Given the description of an element on the screen output the (x, y) to click on. 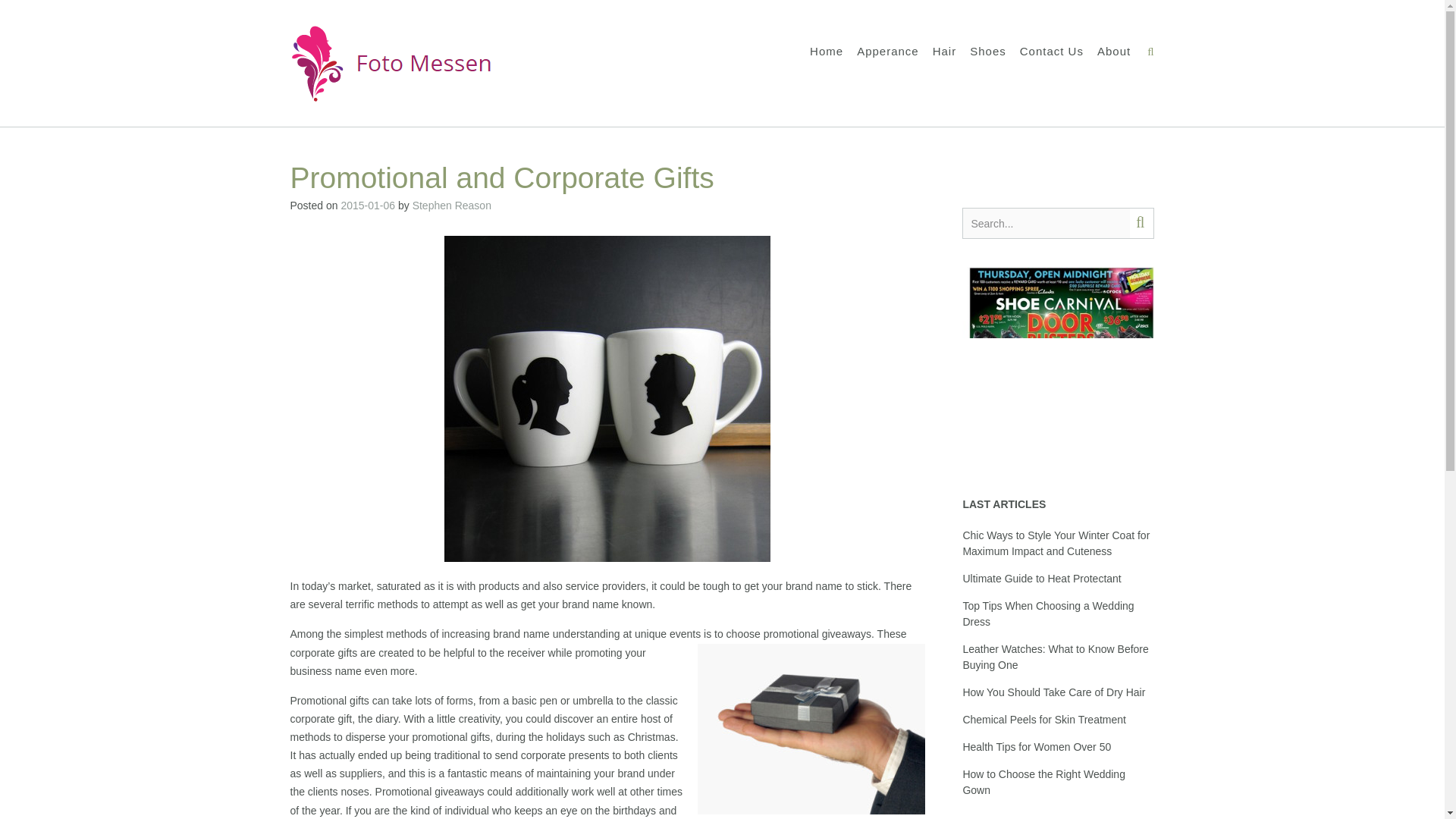
How to Choose the Right Wedding Gown (1043, 782)
Chemical Peels for Skin Treatment (1043, 719)
About (1114, 51)
2015-01-06 (367, 205)
Stephen Reason (452, 205)
Shoes (987, 51)
Foto Messen -  (390, 63)
Apperance (887, 51)
Home (826, 51)
Leather Watches: What to Know Before Buying One (1055, 656)
Contact Us (1051, 51)
Ultimate Guide to Heat Protectant (1041, 578)
Hair (944, 51)
Top Tips When Choosing a Wedding Dress (1048, 613)
